Given the description of an element on the screen output the (x, y) to click on. 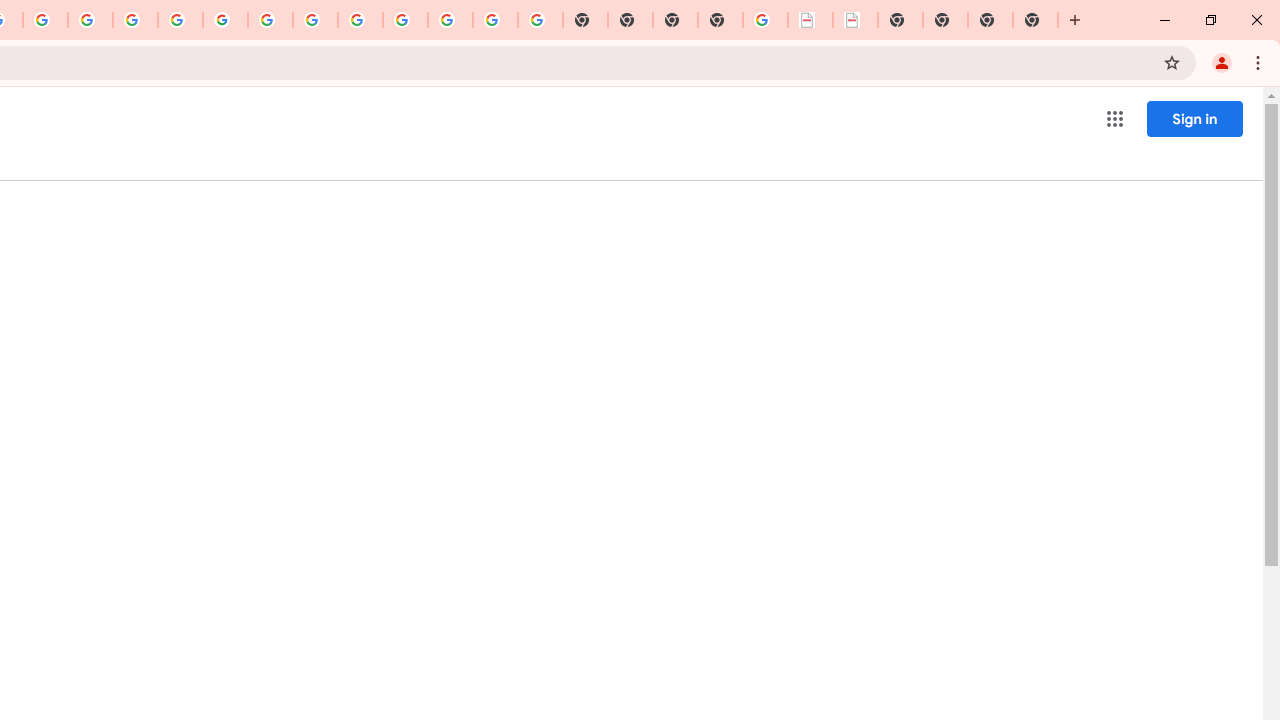
New Tab (1035, 20)
Privacy Help Center - Policies Help (134, 20)
